Given the description of an element on the screen output the (x, y) to click on. 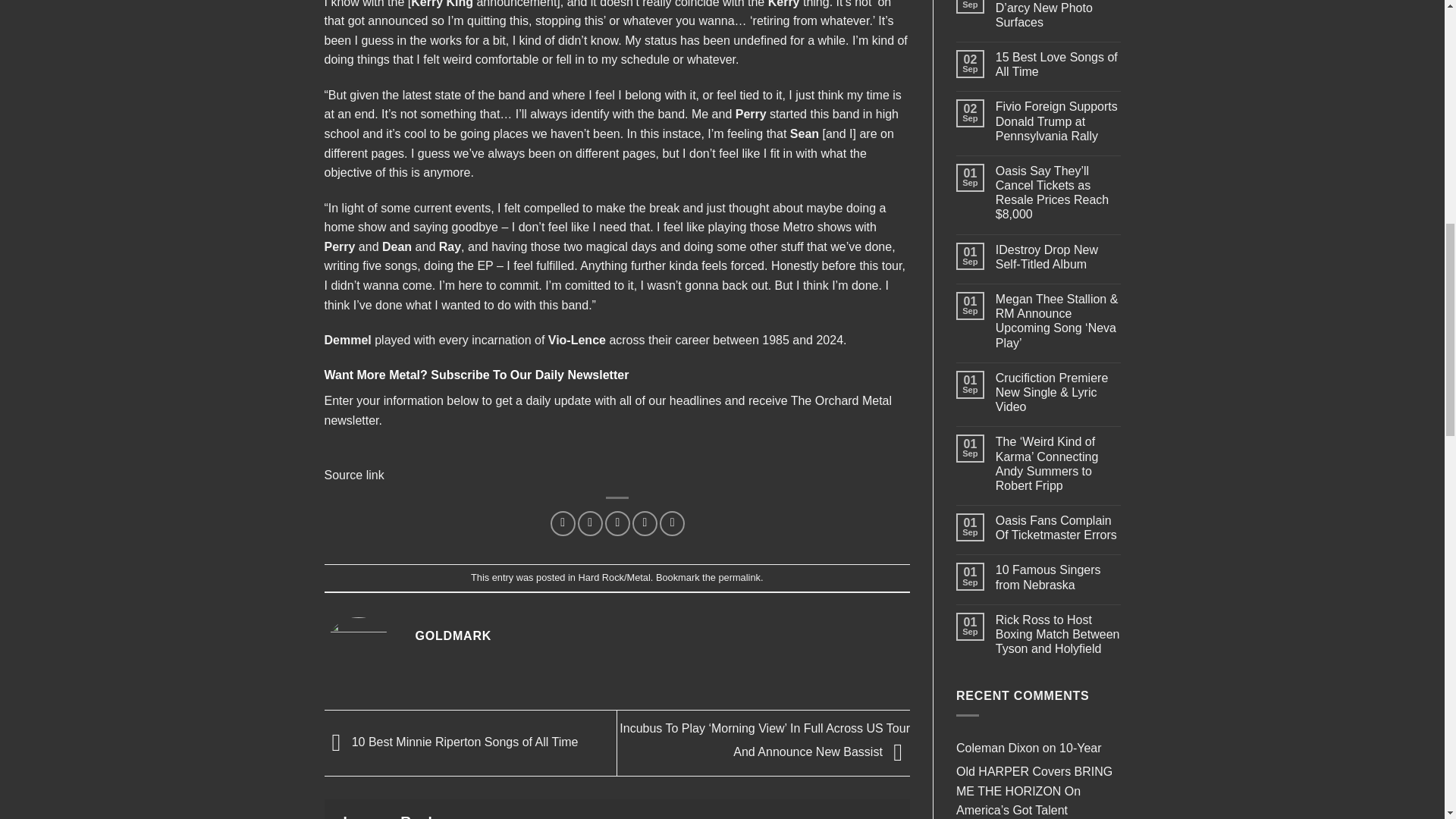
Share on Facebook (562, 523)
Kerry King (441, 4)
Source link (354, 474)
Permalink to PHIL DEMMEL Leaves VIO-LENCE (738, 577)
Share on Twitter (590, 523)
Email to a Friend (617, 523)
Share on LinkedIn (671, 523)
Vio-Lence (576, 339)
Pin on Pinterest (644, 523)
Kerry (783, 4)
